Given the description of an element on the screen output the (x, y) to click on. 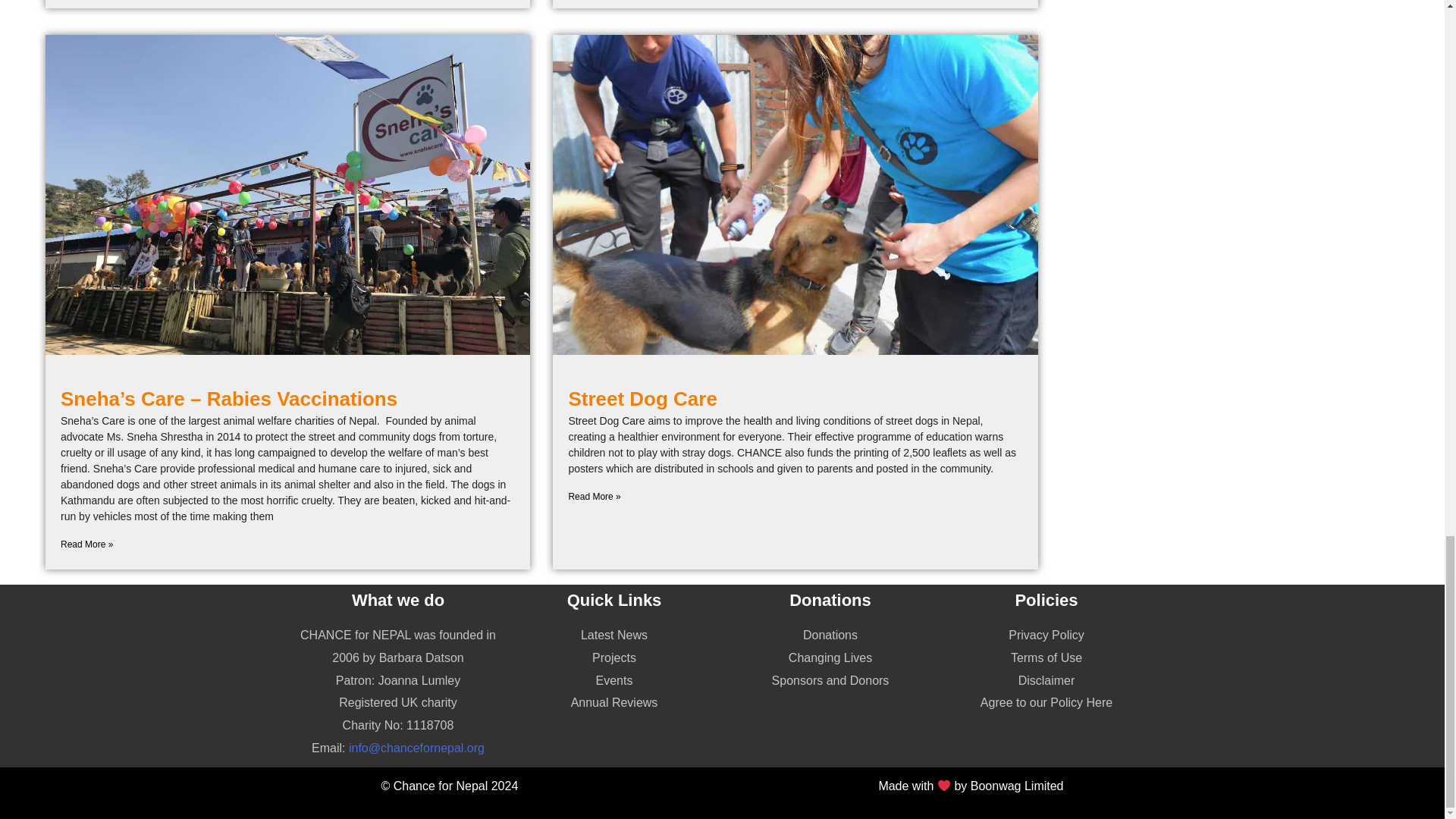
Street Dog Care (642, 398)
